Given the description of an element on the screen output the (x, y) to click on. 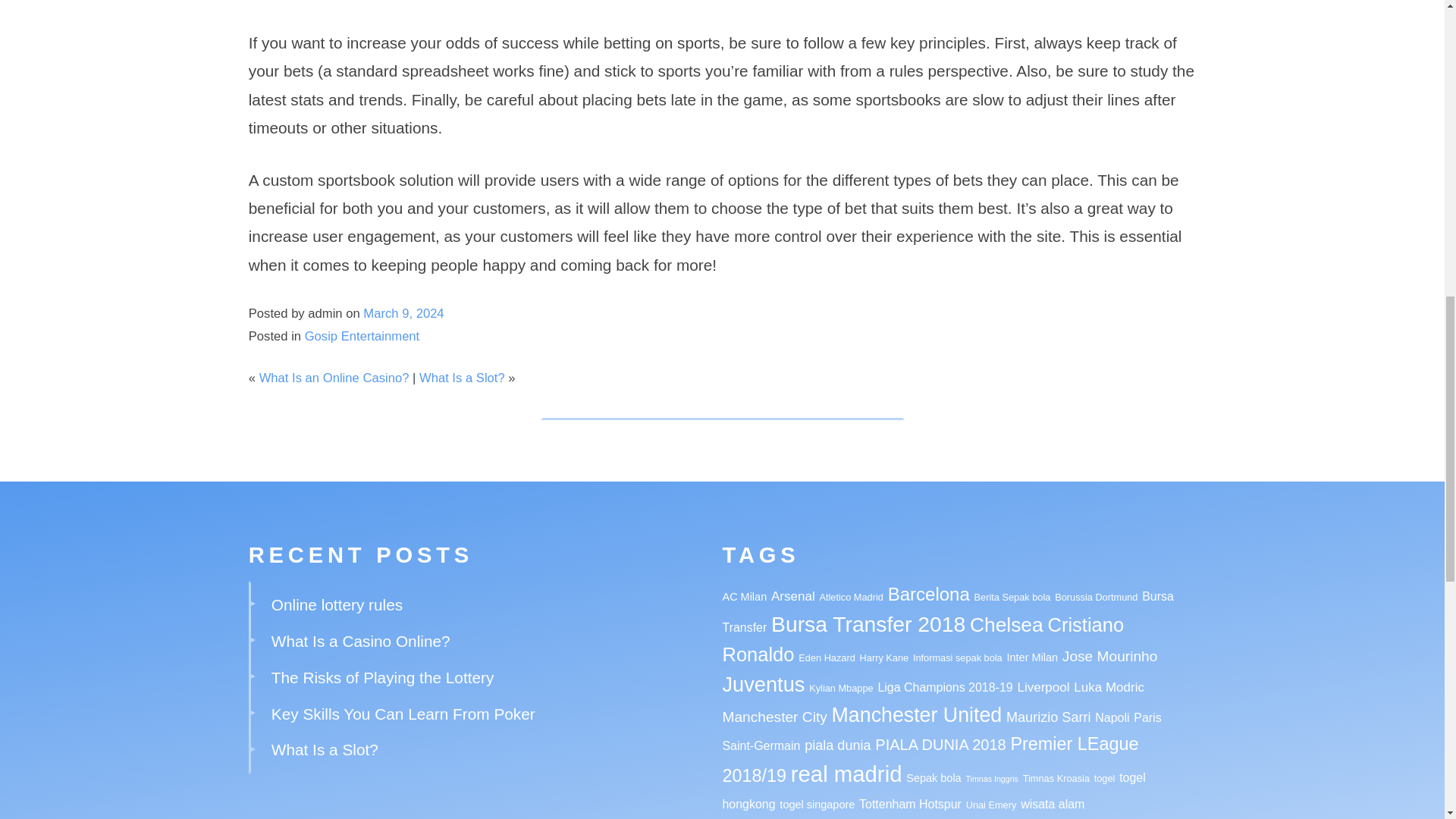
Key Skills You Can Learn From Poker (402, 713)
Atletico Madrid (850, 596)
Barcelona (928, 593)
Bursa Transfer 2018 (868, 623)
The Risks of Playing the Lottery (382, 677)
Jose Mourinho (1109, 656)
What Is a Slot? (462, 377)
Berita Sepak bola (1012, 596)
March 9, 2024 (403, 313)
Eden Hazard (826, 657)
